Given the description of an element on the screen output the (x, y) to click on. 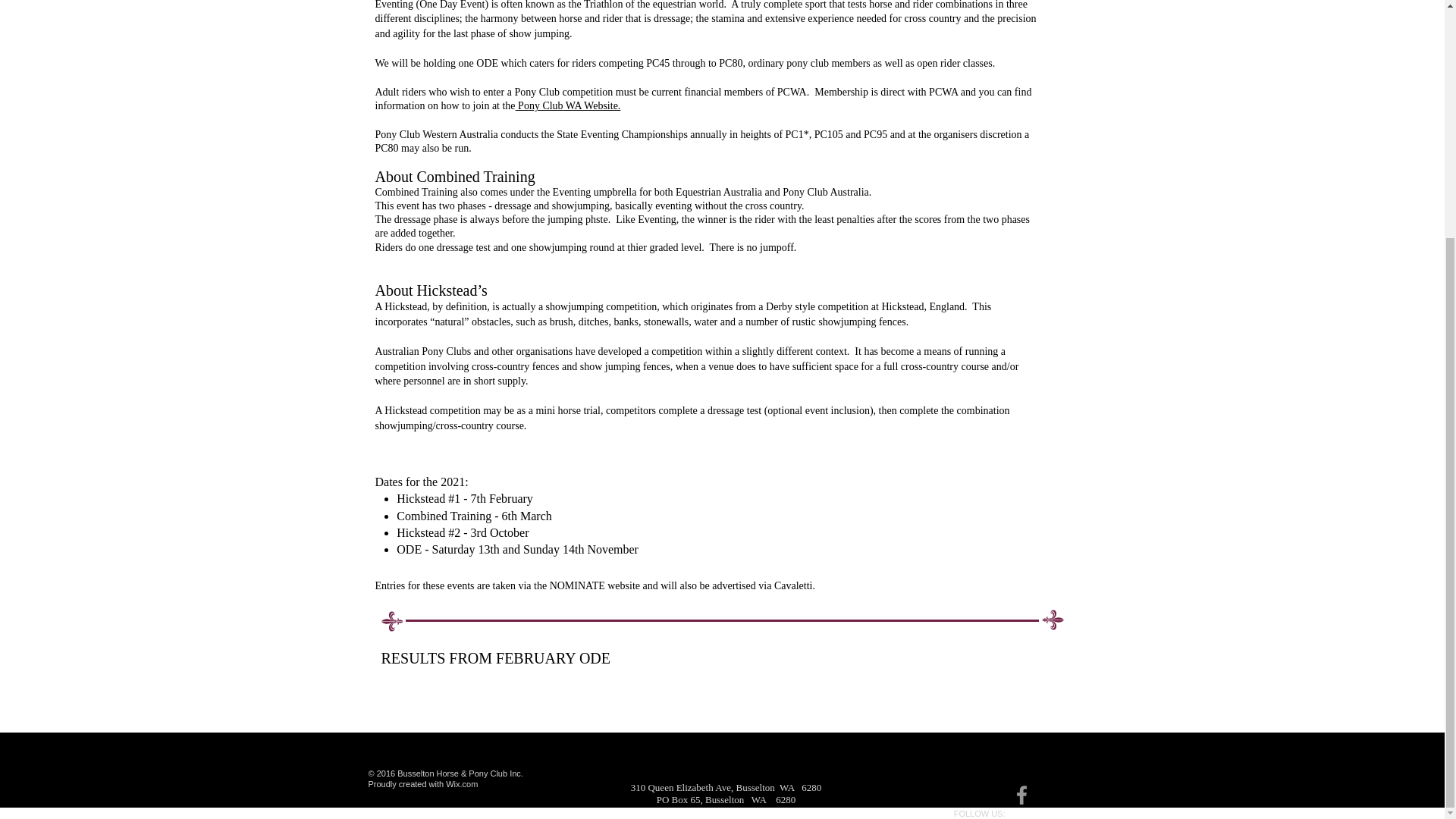
RESULTS FROM FEBRUARY ODE (495, 658)
Wix.com (461, 783)
Pony Club WA Website. (568, 105)
